Given the description of an element on the screen output the (x, y) to click on. 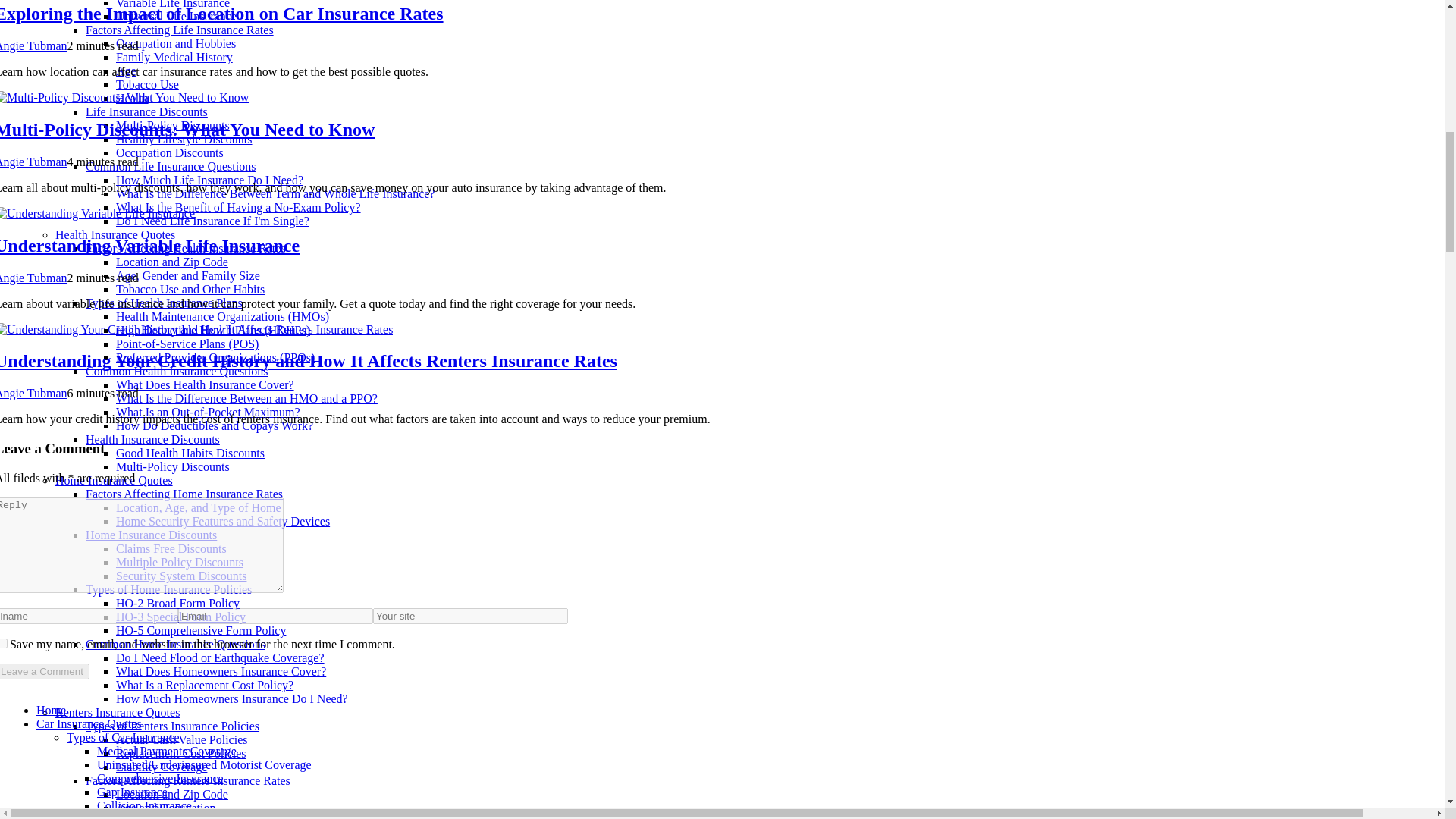
Leave a Comment (44, 671)
Posts by Angie Tubman (33, 277)
Posts by Angie Tubman (33, 161)
Posts by Angie Tubman (33, 392)
Posts by Angie Tubman (33, 45)
